Given the description of an element on the screen output the (x, y) to click on. 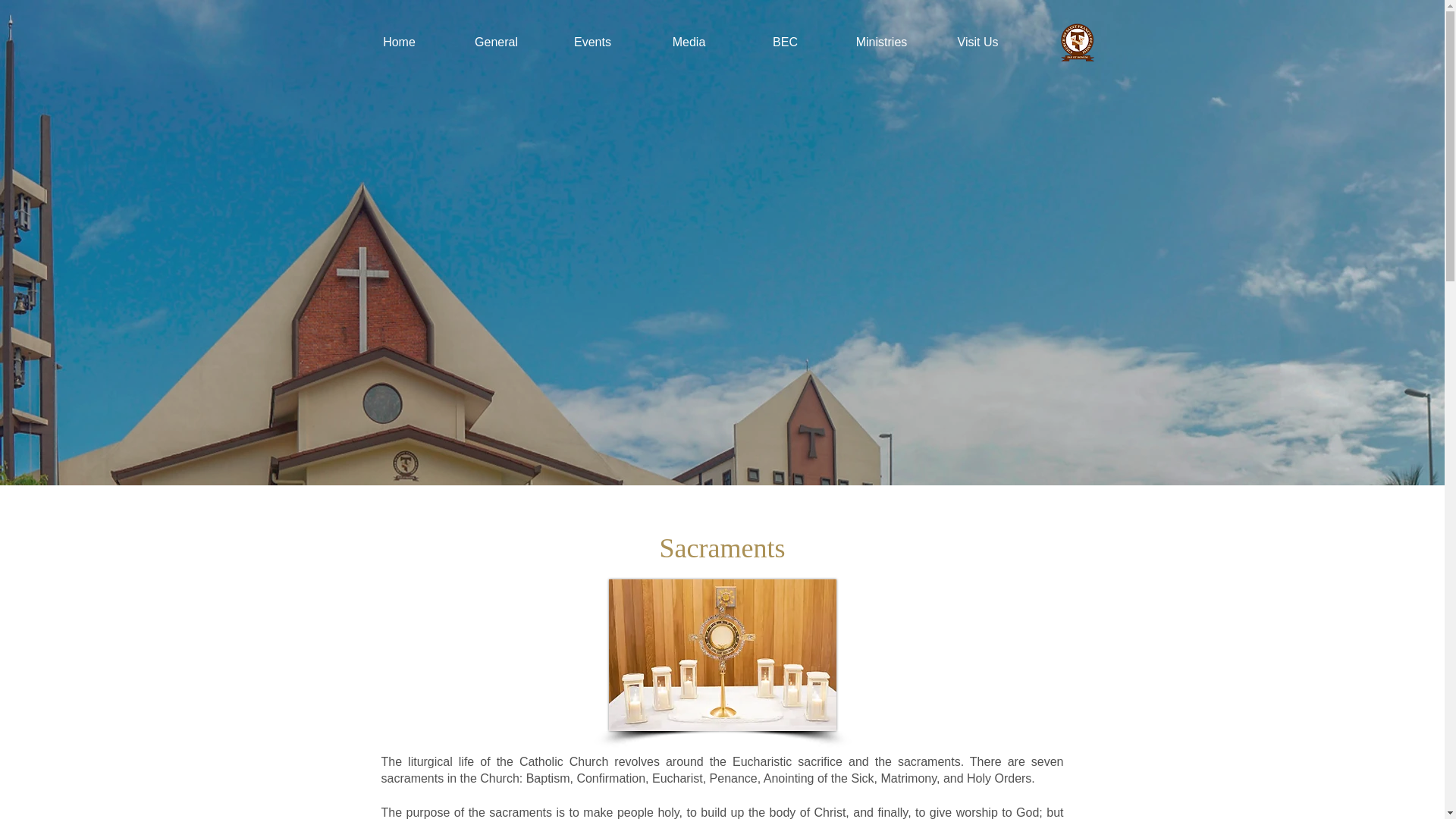
BEC (784, 42)
Visit Us (977, 42)
Events (592, 42)
Home (398, 42)
